Given the description of an element on the screen output the (x, y) to click on. 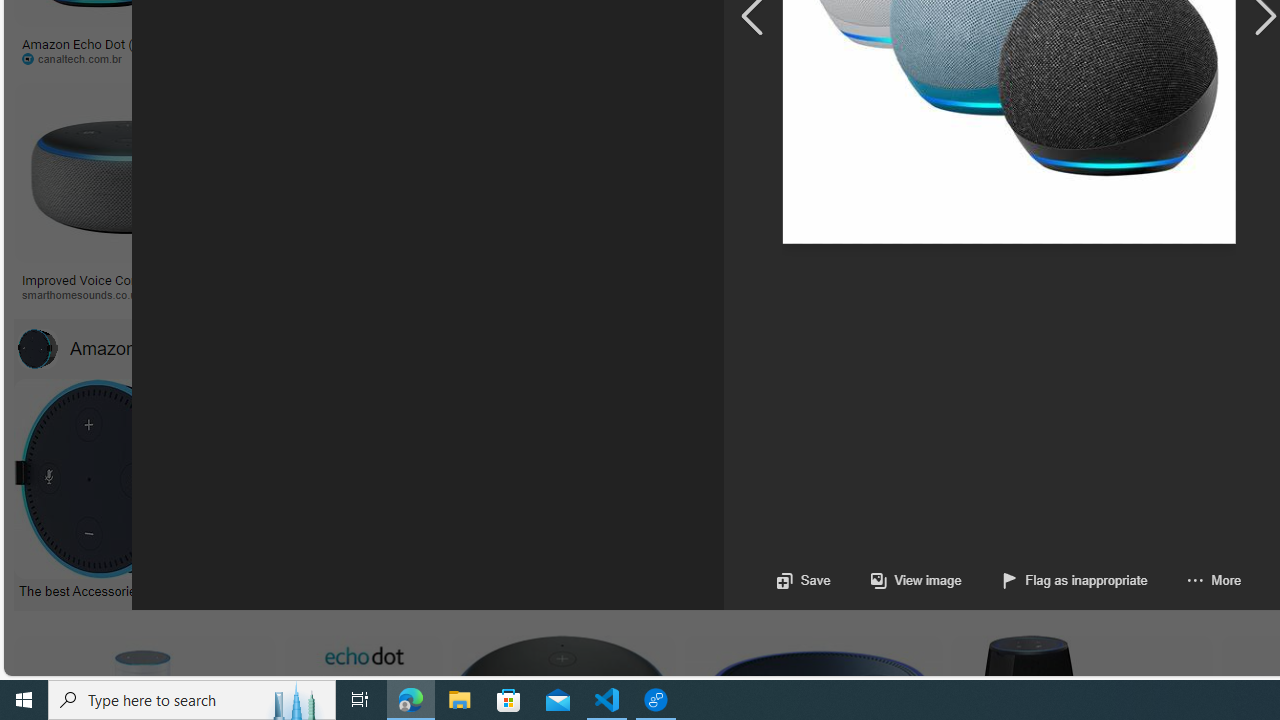
Image result for Amazon Echo Dot PNG (944, 172)
Save (802, 580)
Amazon Echo Dot With Clock Review | Security.org (438, 279)
mediamarkt.de (877, 294)
Amazon Echo Dot Accessories (37, 348)
security.org (438, 295)
Flag as inappropriate (1054, 580)
